Given the description of an element on the screen output the (x, y) to click on. 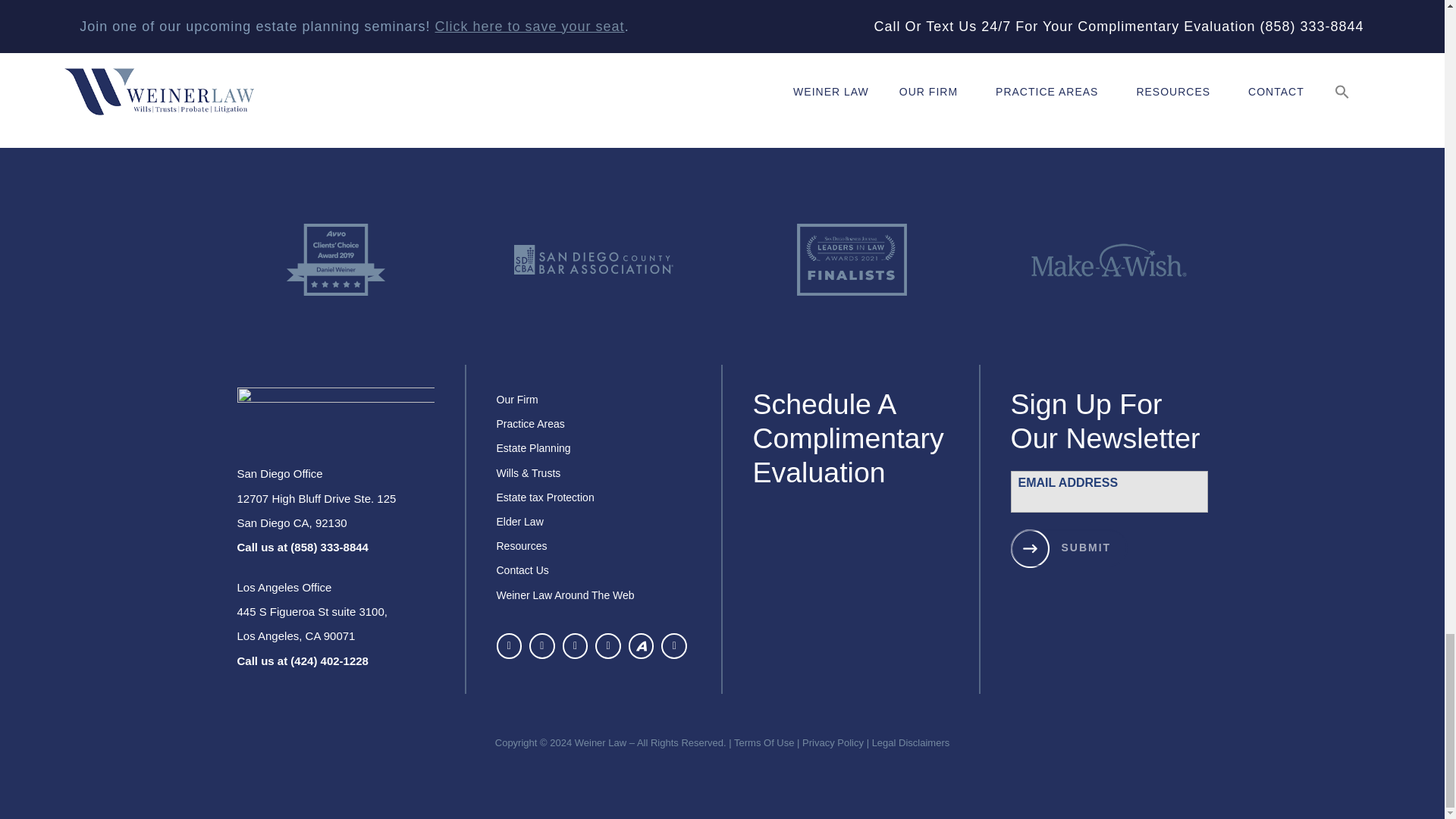
SUBMIT (1068, 547)
